Given the description of an element on the screen output the (x, y) to click on. 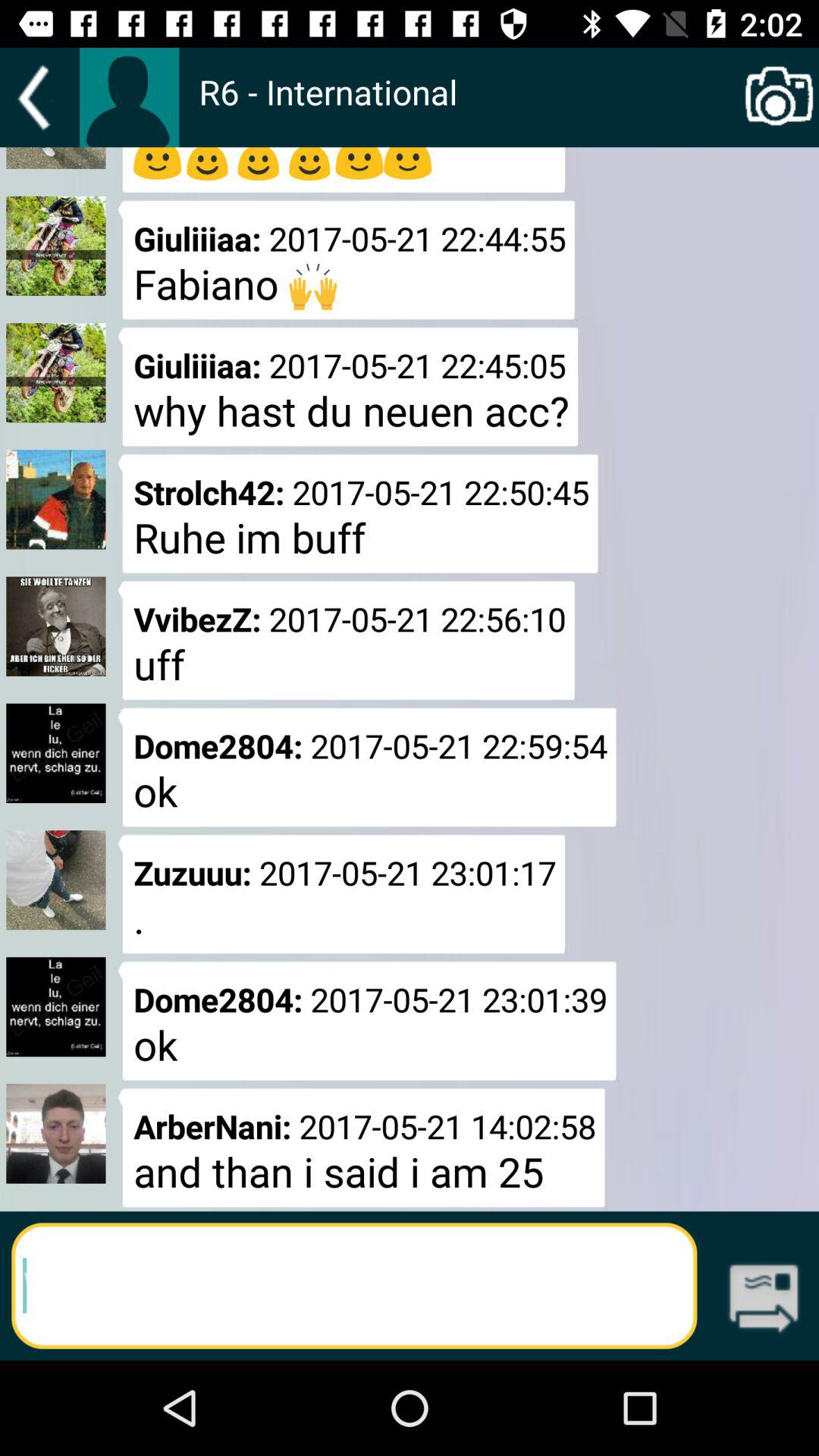
open profile picture (129, 97)
